Given the description of an element on the screen output the (x, y) to click on. 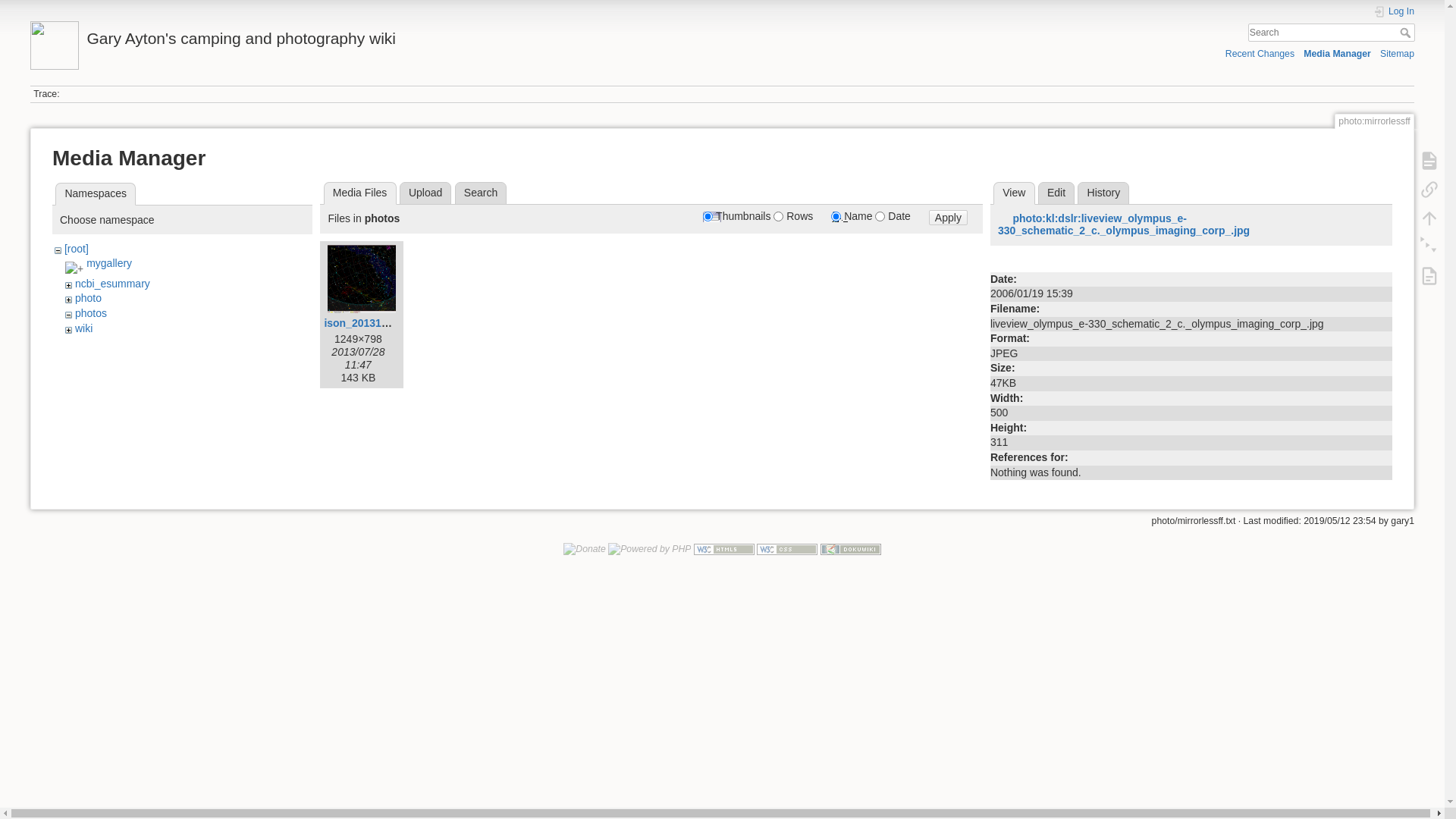
[root] Element type: text (76, 248)
Powered by PHP Element type: hover (649, 548)
Fold/unfold all Element type: hover (1429, 246)
Sitemap Element type: text (1397, 53)
Media Manager Element type: text (1337, 53)
photos Element type: text (90, 313)
Recent Changes Element type: text (1259, 53)
Search Element type: text (481, 193)
Driven by DokuWiki Element type: hover (850, 548)
Import Element type: hover (1429, 275)
History Element type: text (1103, 193)
ison_20131124_adelaidedawn.png Element type: text (409, 322)
Valid HTML5 Element type: hover (723, 548)
Show page [v] Element type: hover (1429, 160)
Backlinks Element type: hover (1429, 189)
ncbi_esummary Element type: text (112, 283)
[F] Element type: hover (1331, 32)
photo Element type: text (88, 297)
Edit Element type: text (1056, 193)
Upload Element type: text (425, 193)
Donate Element type: hover (584, 548)
Search Element type: text (1406, 32)
Gary Ayton's camping and photography wiki Element type: text (369, 34)
mygallery Element type: text (108, 263)
Apply Element type: text (947, 217)
Valid CSS Element type: hover (786, 548)
Back to top [t] Element type: hover (1429, 217)
wiki Element type: text (83, 328)
Log In Element type: text (1393, 11)
